Given the description of an element on the screen output the (x, y) to click on. 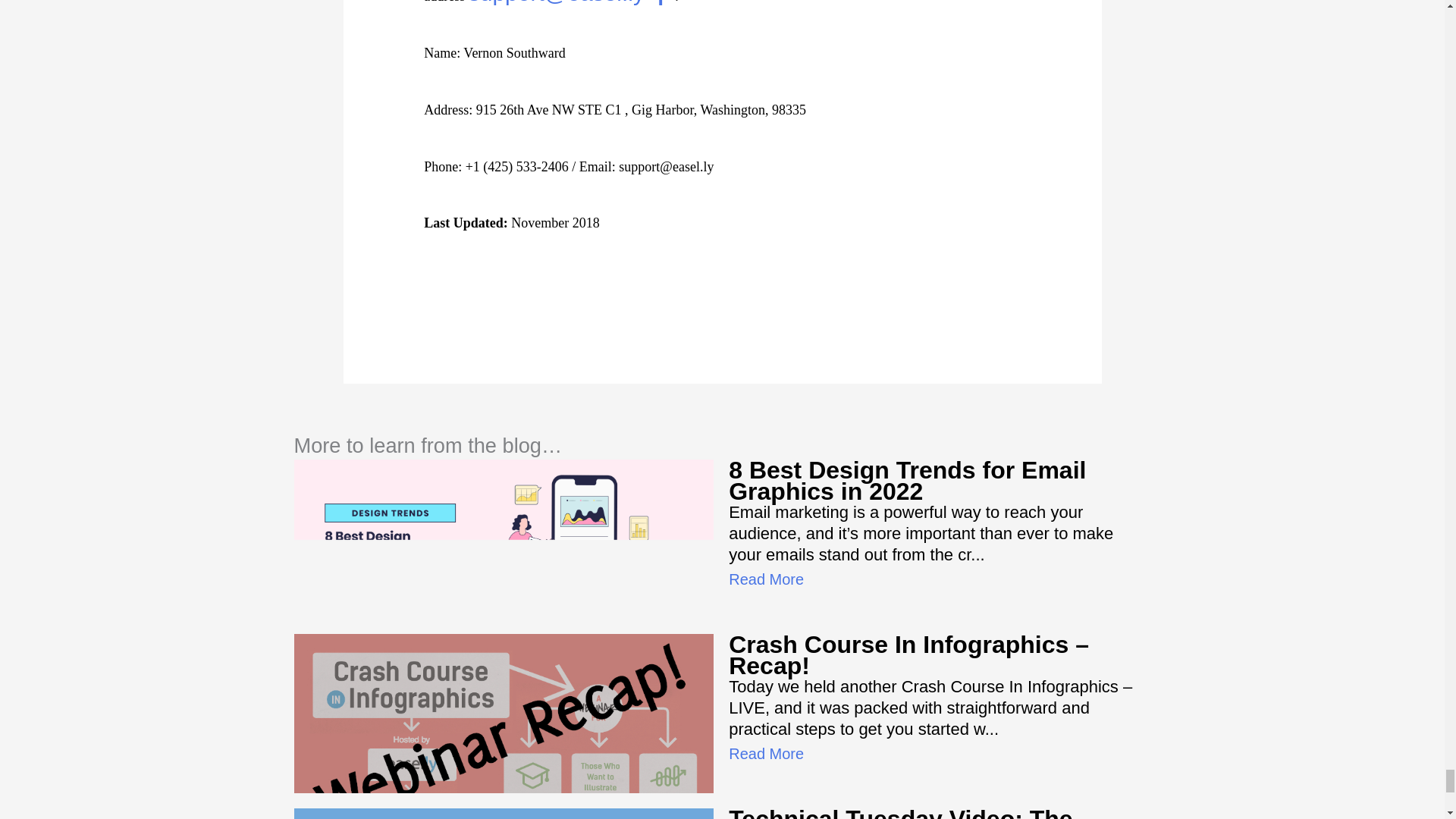
Read More (766, 753)
Read More (766, 579)
Technical Tuesday Video: The Importance of Font (900, 812)
8 Best Design Trends for Email Graphics in 2022 (907, 480)
